Given the description of an element on the screen output the (x, y) to click on. 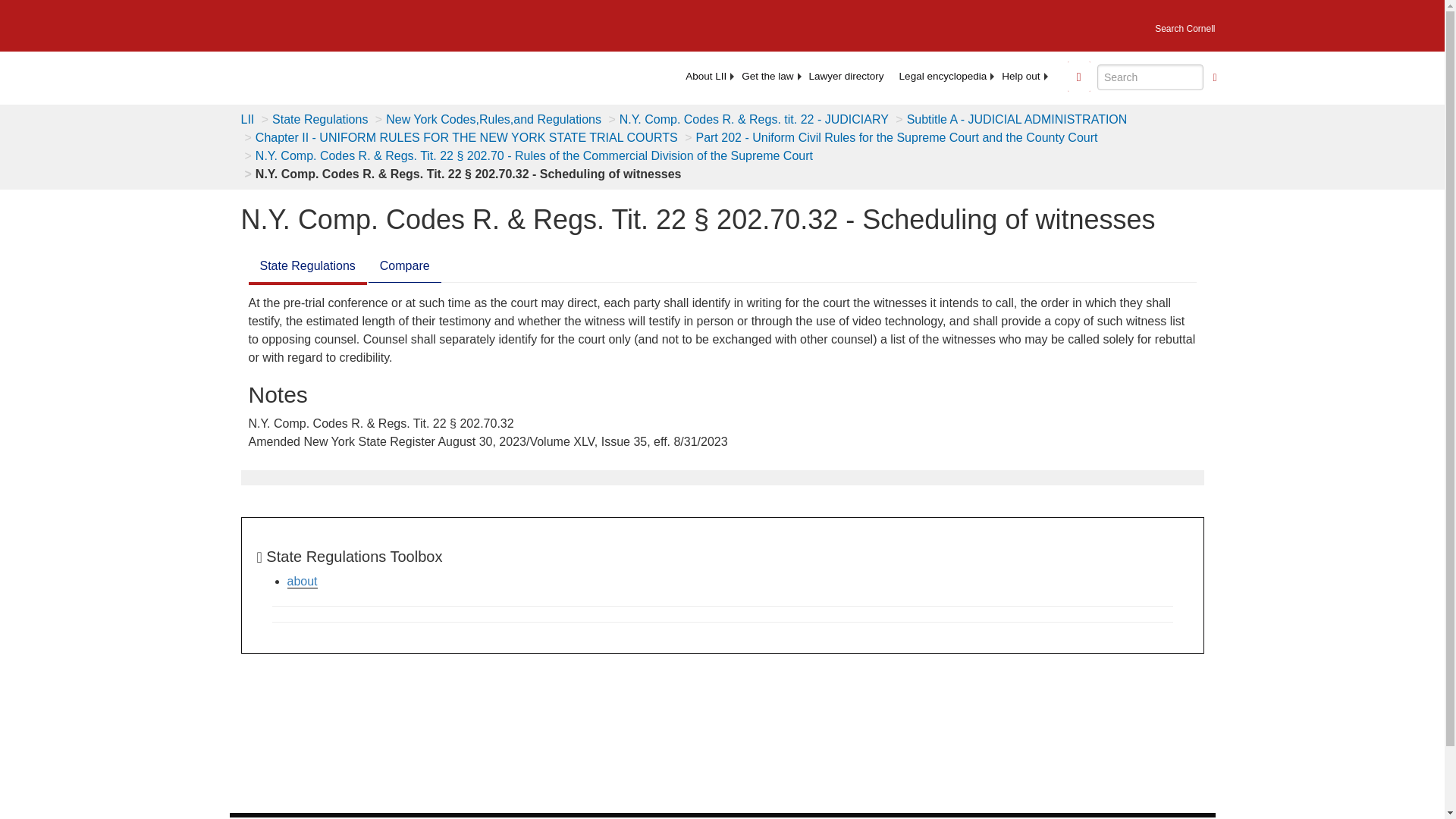
Cornell University (249, 23)
Legal encyclopedia (942, 76)
Cornell Law School (348, 23)
About LII (705, 76)
Get the law (766, 76)
Search Cornell (1184, 24)
Cornell Law School (348, 23)
Search Cornell University (1184, 24)
Lawyer directory (846, 76)
